Given the description of an element on the screen output the (x, y) to click on. 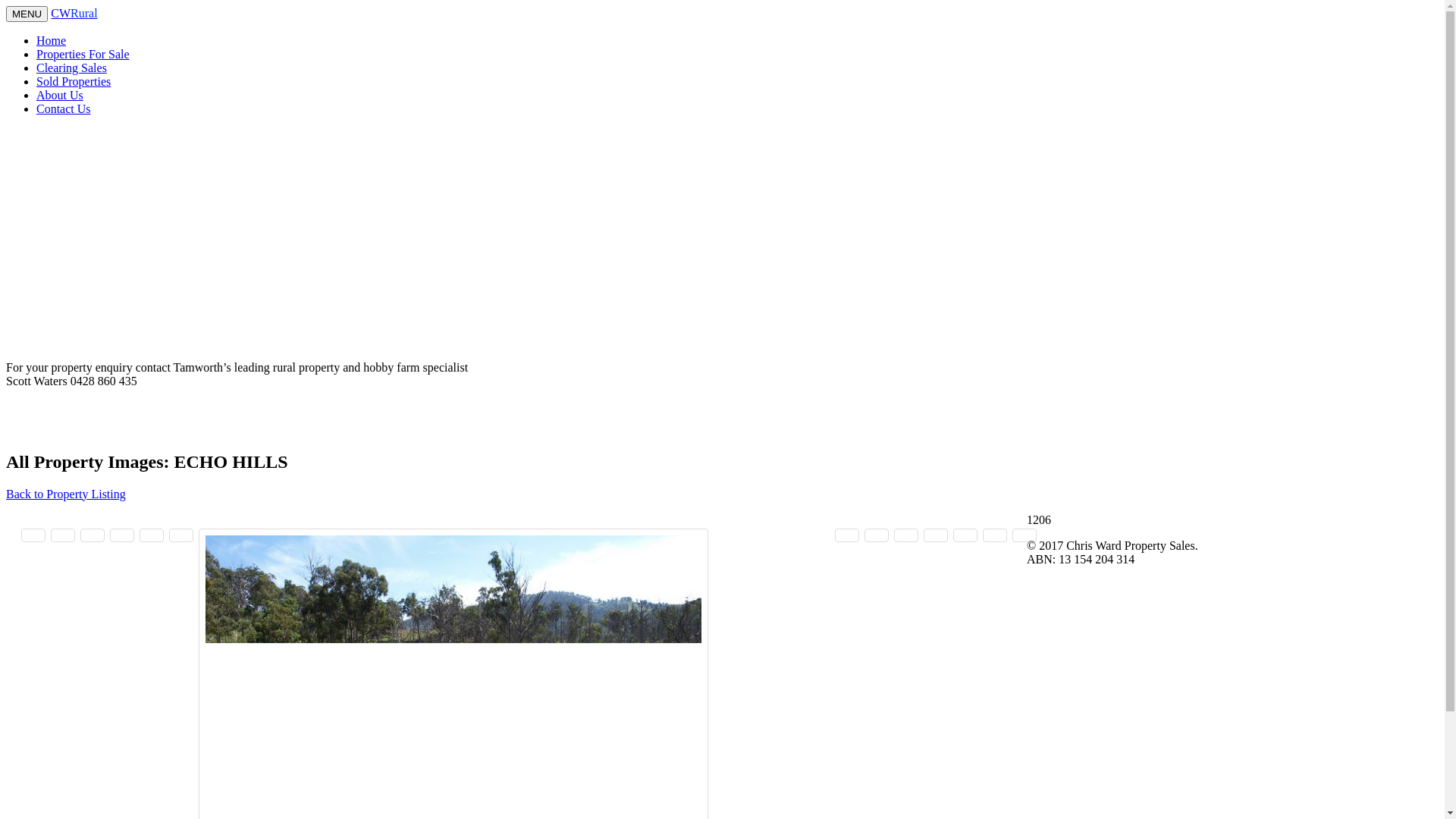
Sold Properties Element type: text (73, 81)
Clearing Sales Element type: text (71, 67)
MENU Element type: text (26, 13)
Home Element type: text (50, 40)
Properties For Sale Element type: text (82, 53)
Contact Us Element type: text (63, 108)
CWRural Element type: text (73, 12)
About Us Element type: text (59, 94)
Back to Property Listing Element type: text (65, 493)
